Given the description of an element on the screen output the (x, y) to click on. 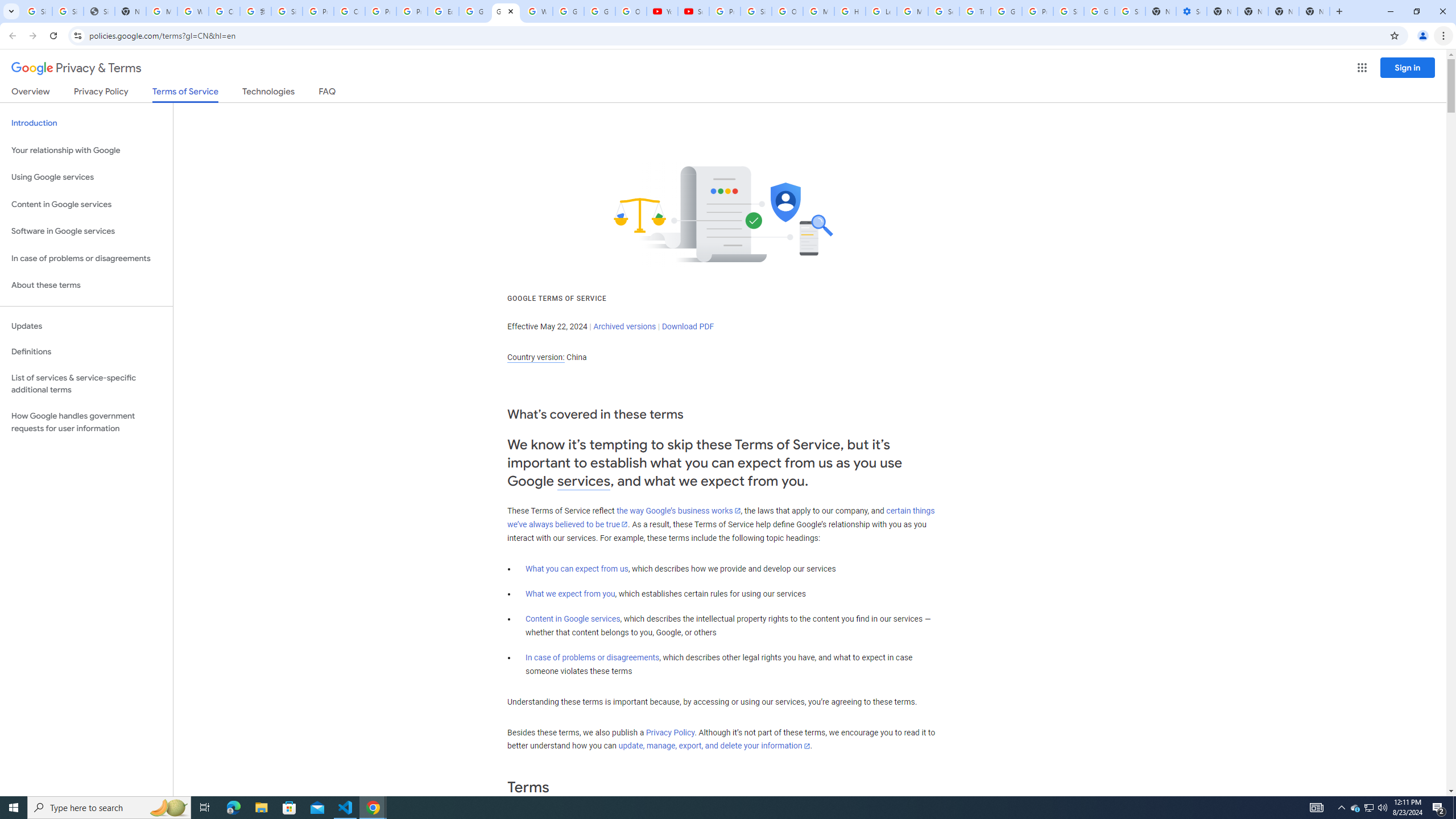
Updates (86, 325)
Sign in - Google Accounts (286, 11)
How Google handles government requests for user information (86, 422)
YouTube (662, 11)
Download PDF (687, 326)
Google Cybersecurity Innovations - Google Safety Center (1098, 11)
List of services & service-specific additional terms (86, 383)
New Tab (1314, 11)
Subscriptions - YouTube (693, 11)
